Given the description of an element on the screen output the (x, y) to click on. 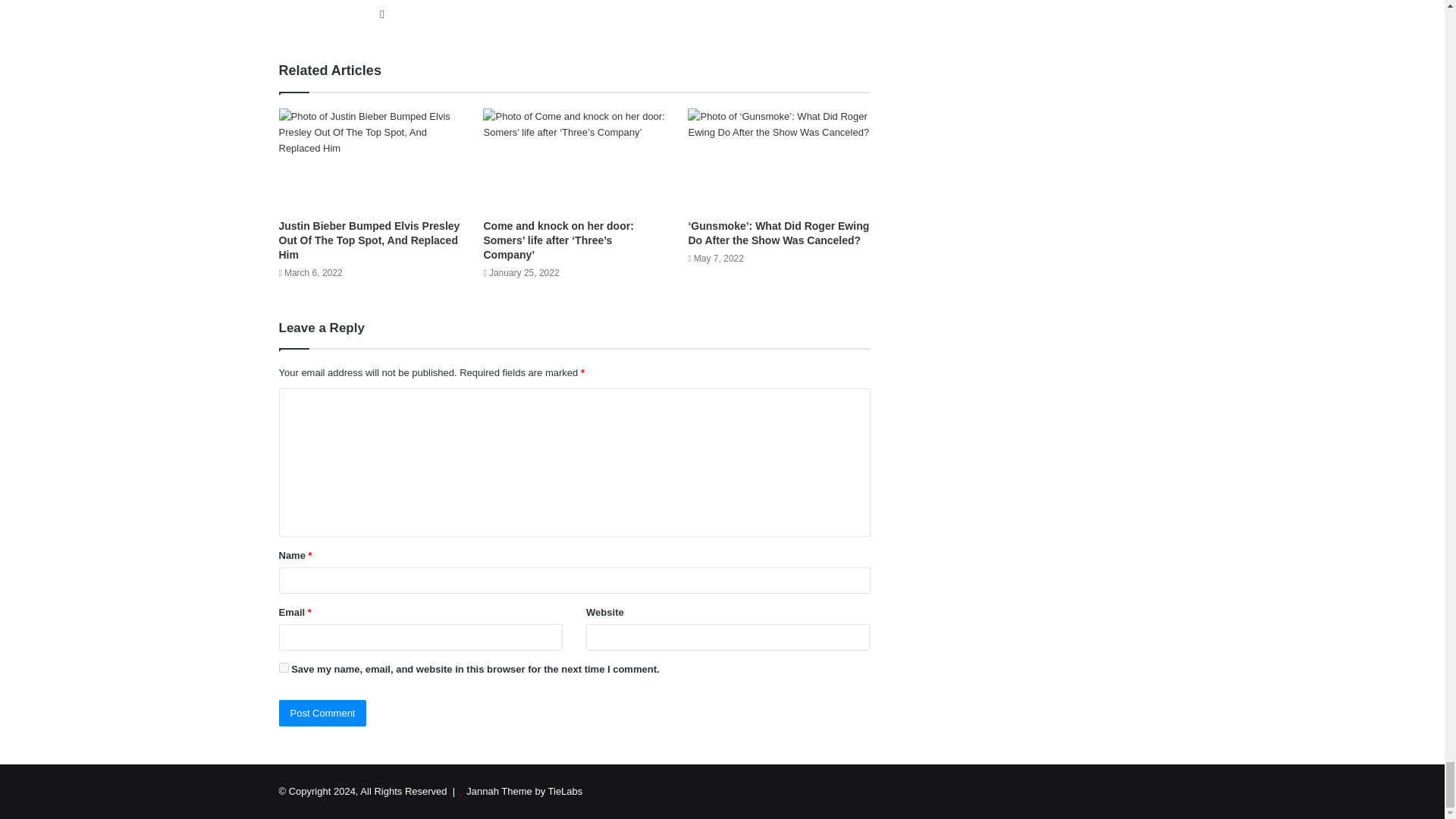
Post Comment (322, 713)
yes (283, 667)
Post Comment (322, 713)
Website (381, 13)
